Given the description of an element on the screen output the (x, y) to click on. 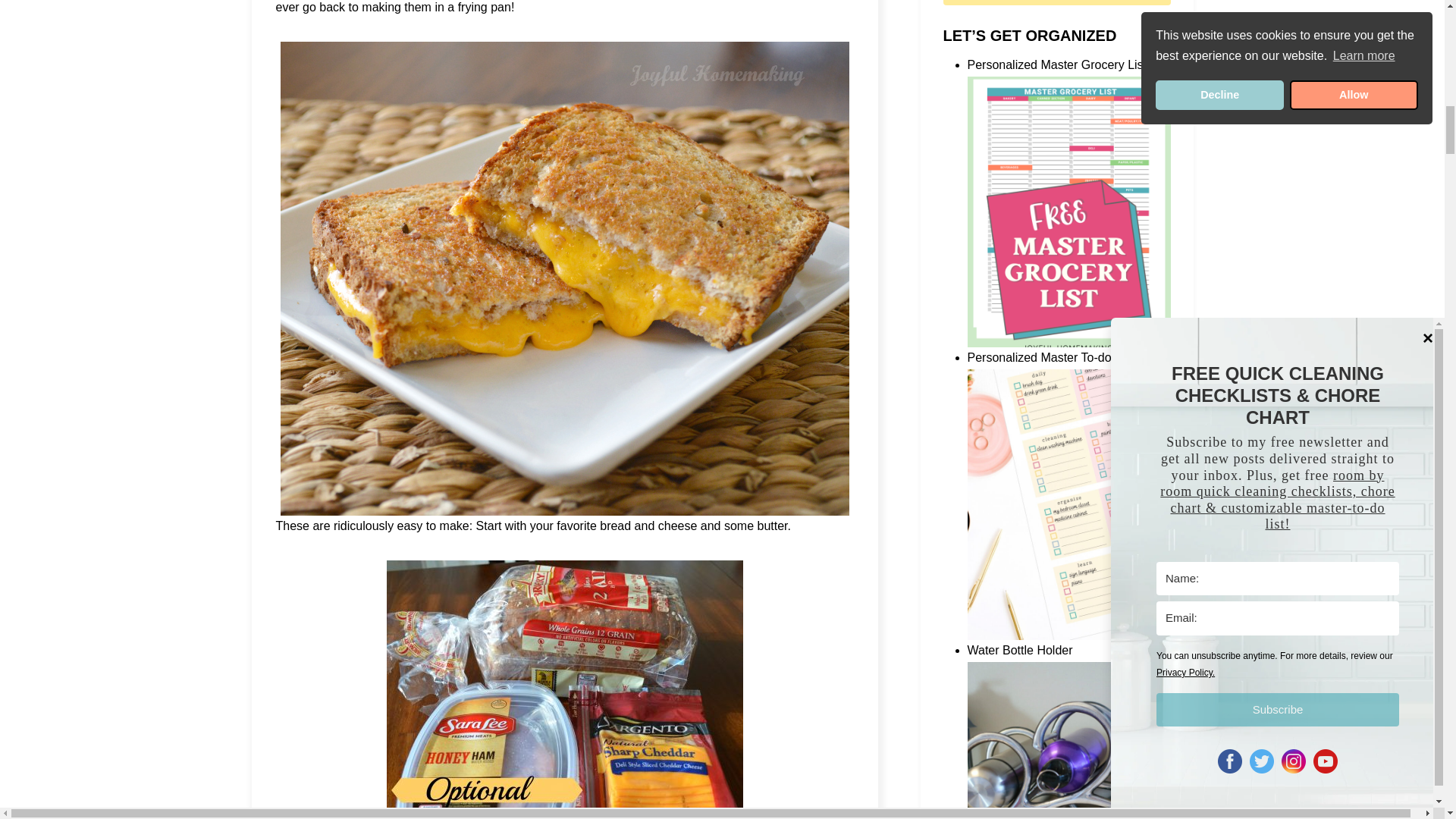
Personalized Master To-do List (1069, 513)
Grilled Cheese Made in the Oven (564, 689)
Personalized Master Grocery Lists (1069, 220)
Water Bottle Holder (1069, 740)
